Given the description of an element on the screen output the (x, y) to click on. 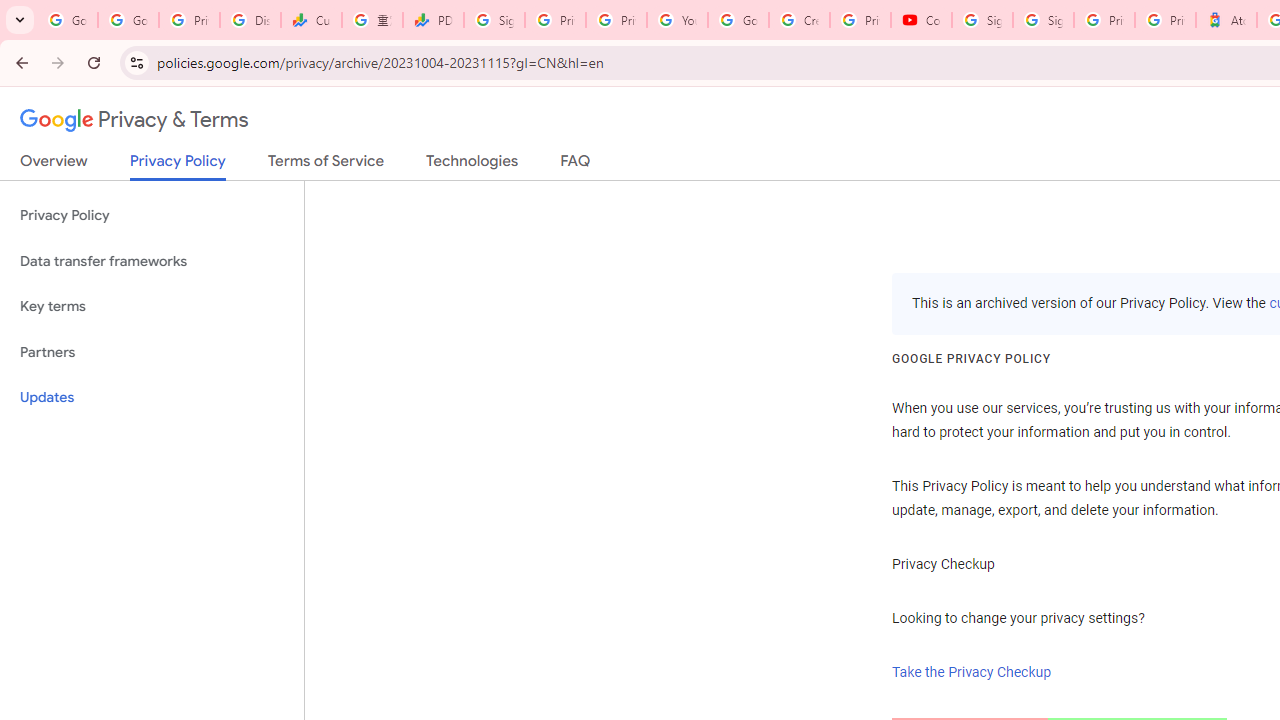
PDD Holdings Inc - ADR (PDD) Price & News - Google Finance (433, 20)
Take the Privacy Checkup (972, 672)
Sign in - Google Accounts (1042, 20)
